Given the description of an element on the screen output the (x, y) to click on. 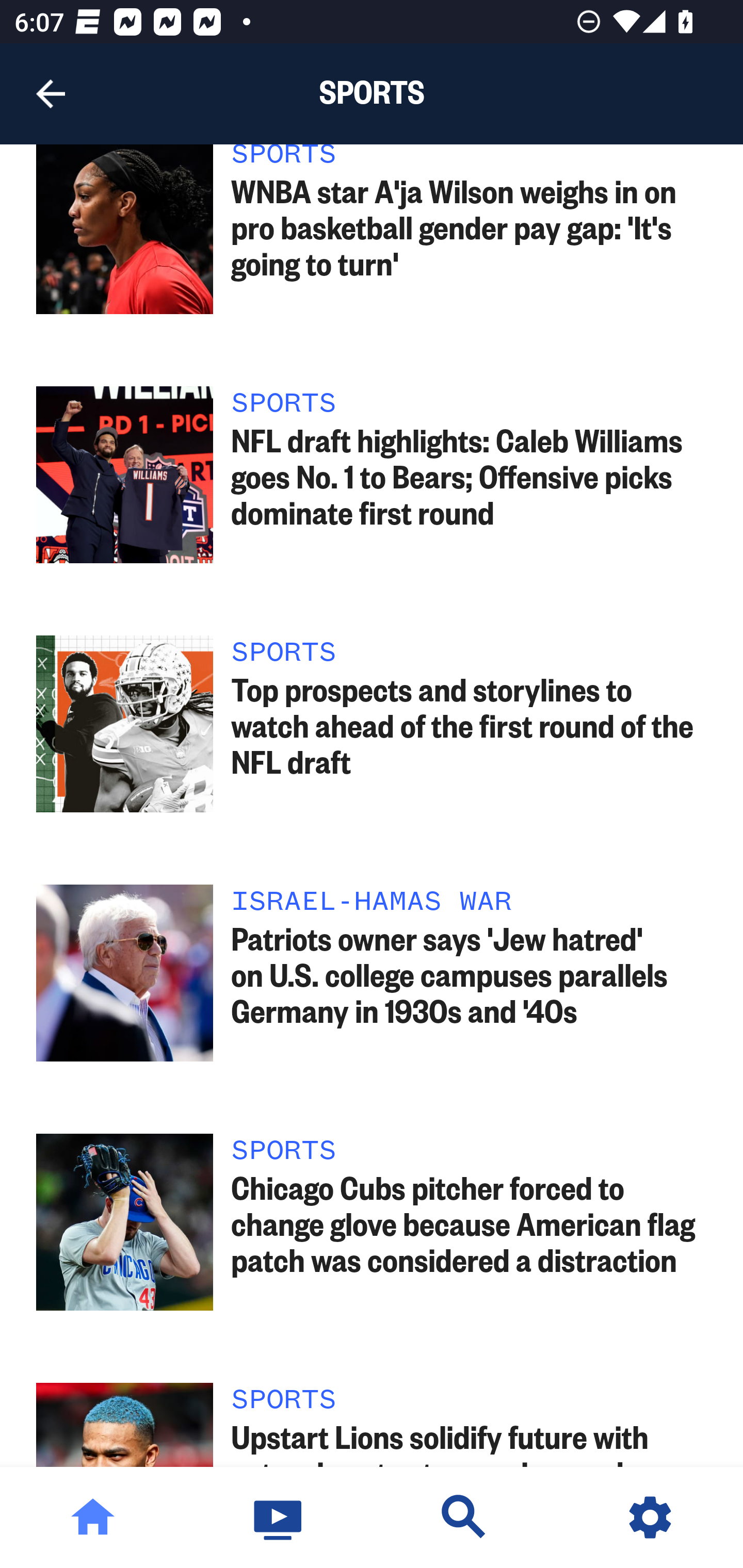
Navigate up (50, 93)
Watch (278, 1517)
Discover (464, 1517)
Settings (650, 1517)
